Given the description of an element on the screen output the (x, y) to click on. 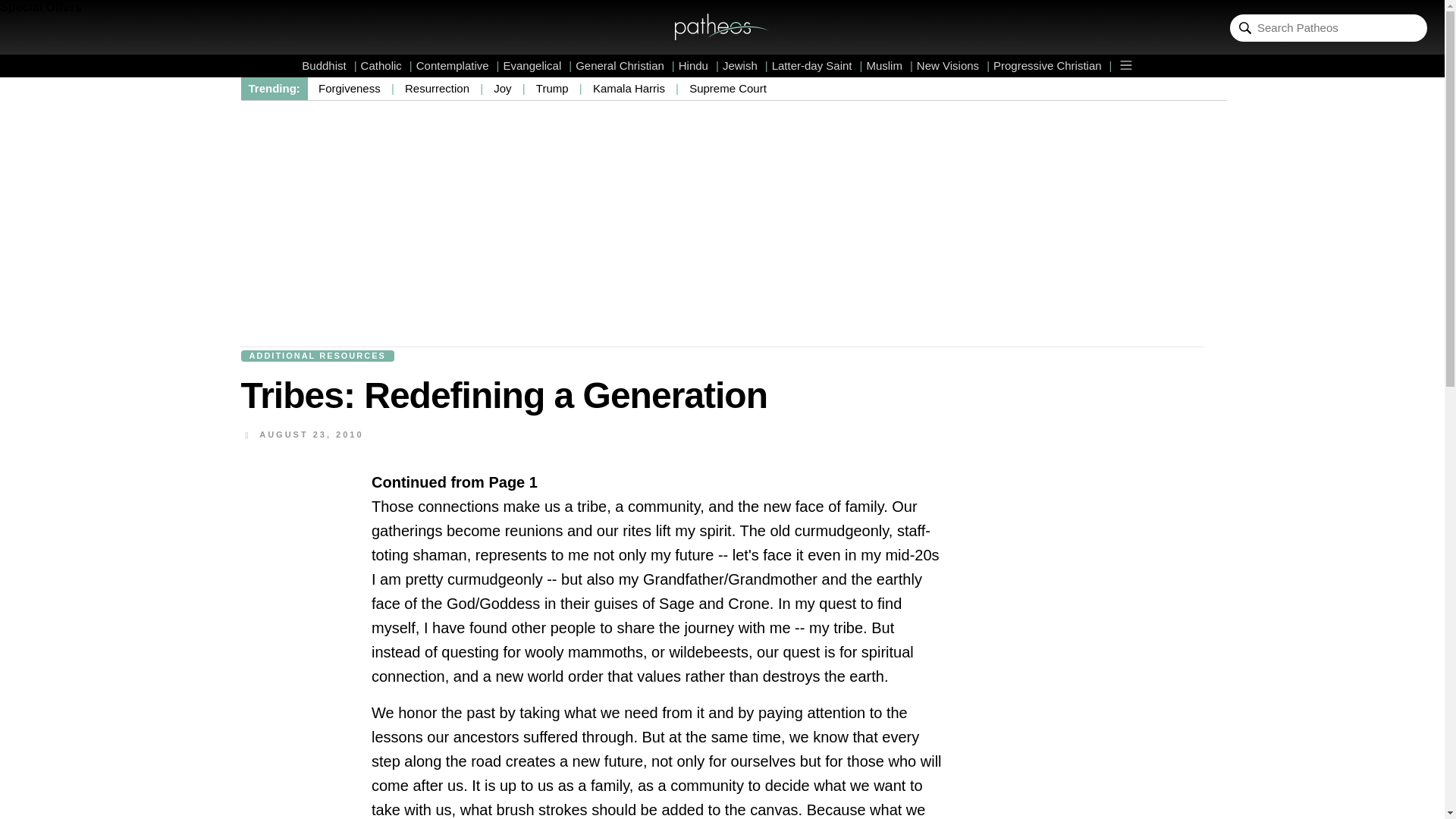
Catholic (386, 65)
Special Offers (40, 6)
Latter-day Saint (817, 65)
Hindu (698, 65)
Buddhist (328, 65)
Muslim (889, 65)
General Christian (625, 65)
Contemplative (457, 65)
New Visions (953, 65)
Progressive Christian (1052, 65)
